Given the description of an element on the screen output the (x, y) to click on. 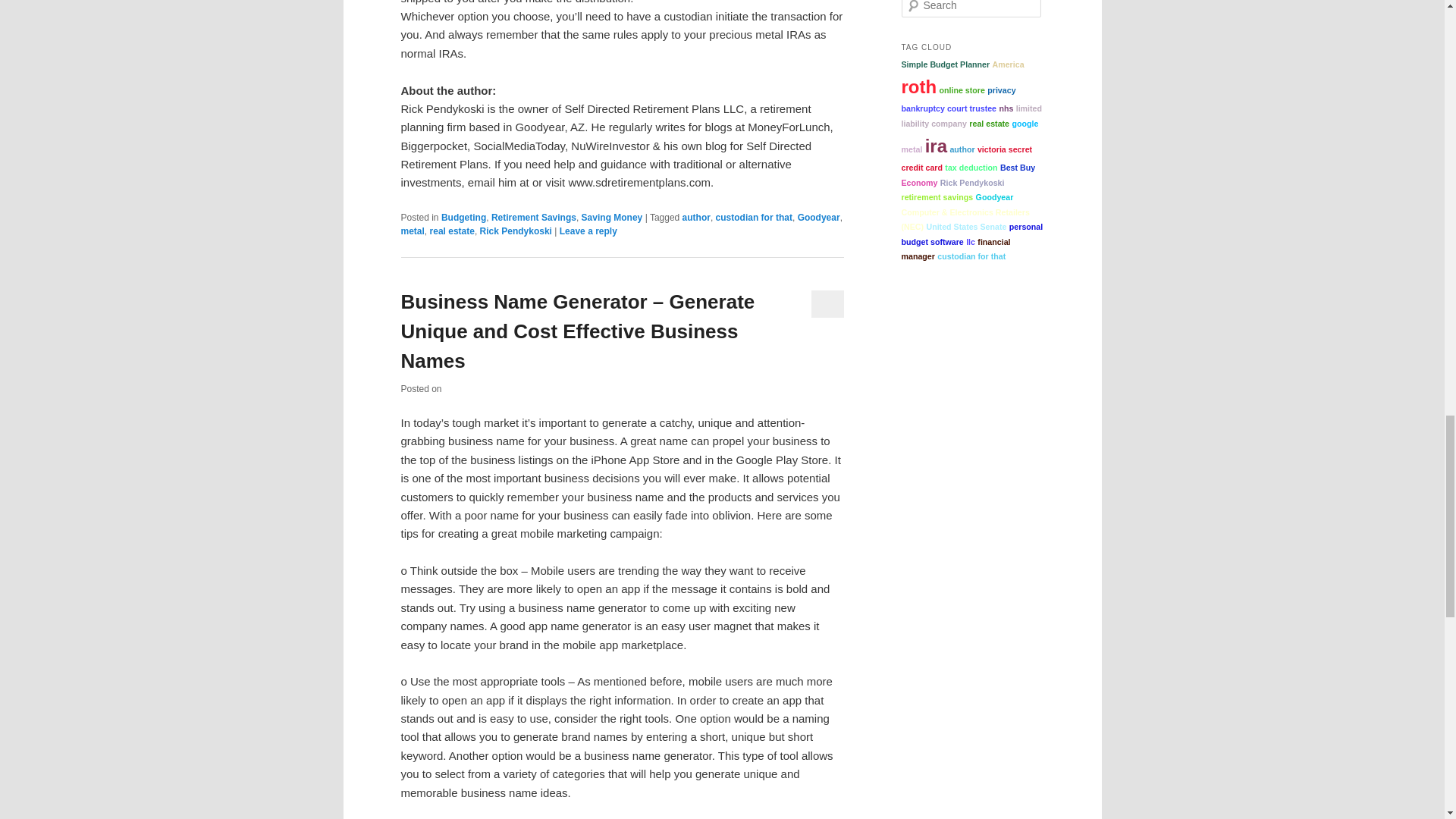
Retirement Savings (534, 217)
metal (411, 231)
Goodyear (818, 217)
Saving Money (611, 217)
Budgeting (463, 217)
custodian for that (754, 217)
Rick Pendykoski (515, 231)
author (696, 217)
Leave a reply (588, 231)
real estate (451, 231)
